Given the description of an element on the screen output the (x, y) to click on. 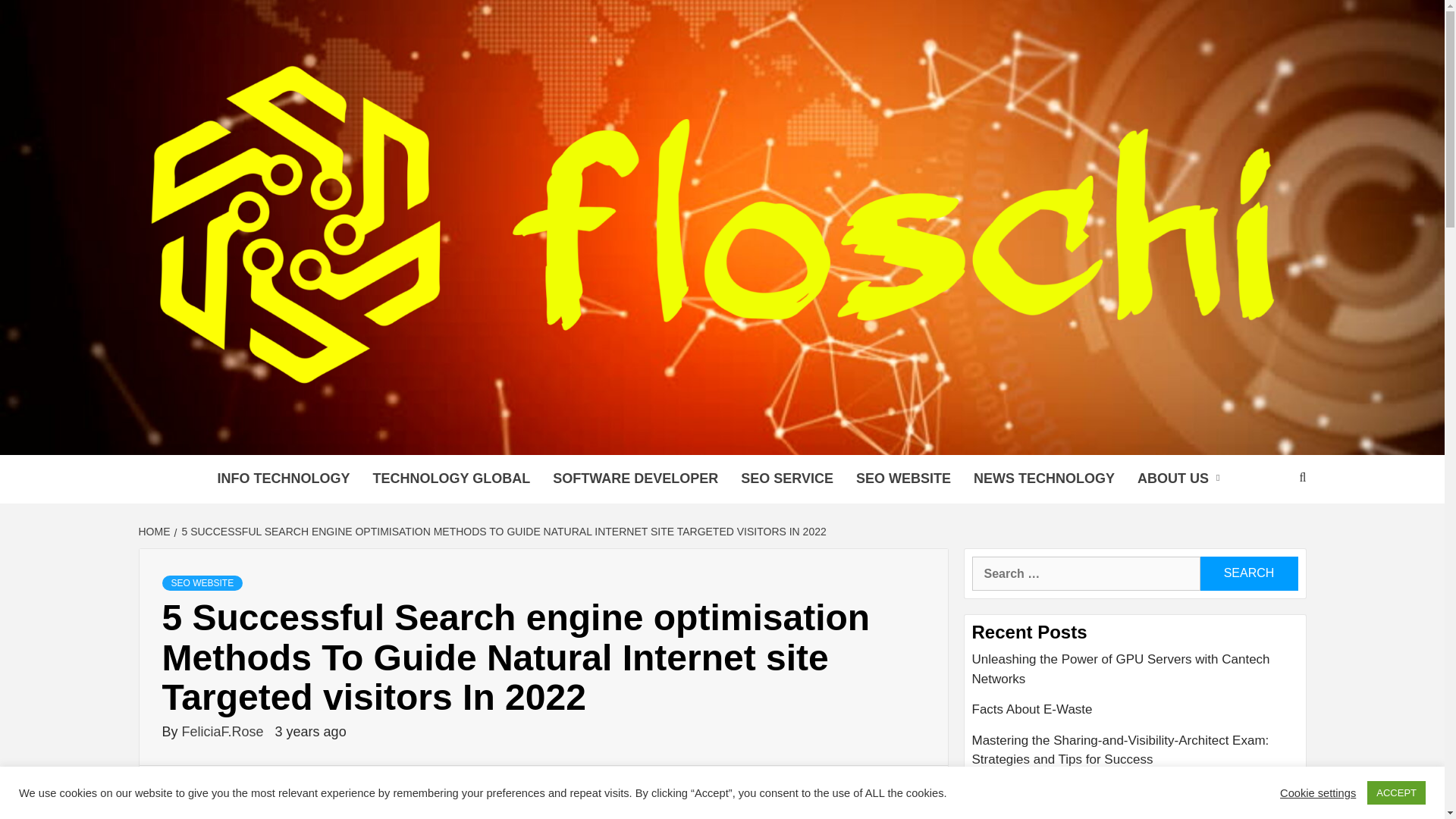
HOME (155, 531)
ABOUT US (1182, 478)
Search (1248, 573)
Search (1248, 573)
Search (1248, 573)
FLOSCHI (308, 435)
SEO WEBSITE (903, 478)
TECHNOLOGY GLOBAL (451, 478)
SOFTWARE DEVELOPER (635, 478)
